Given the description of an element on the screen output the (x, y) to click on. 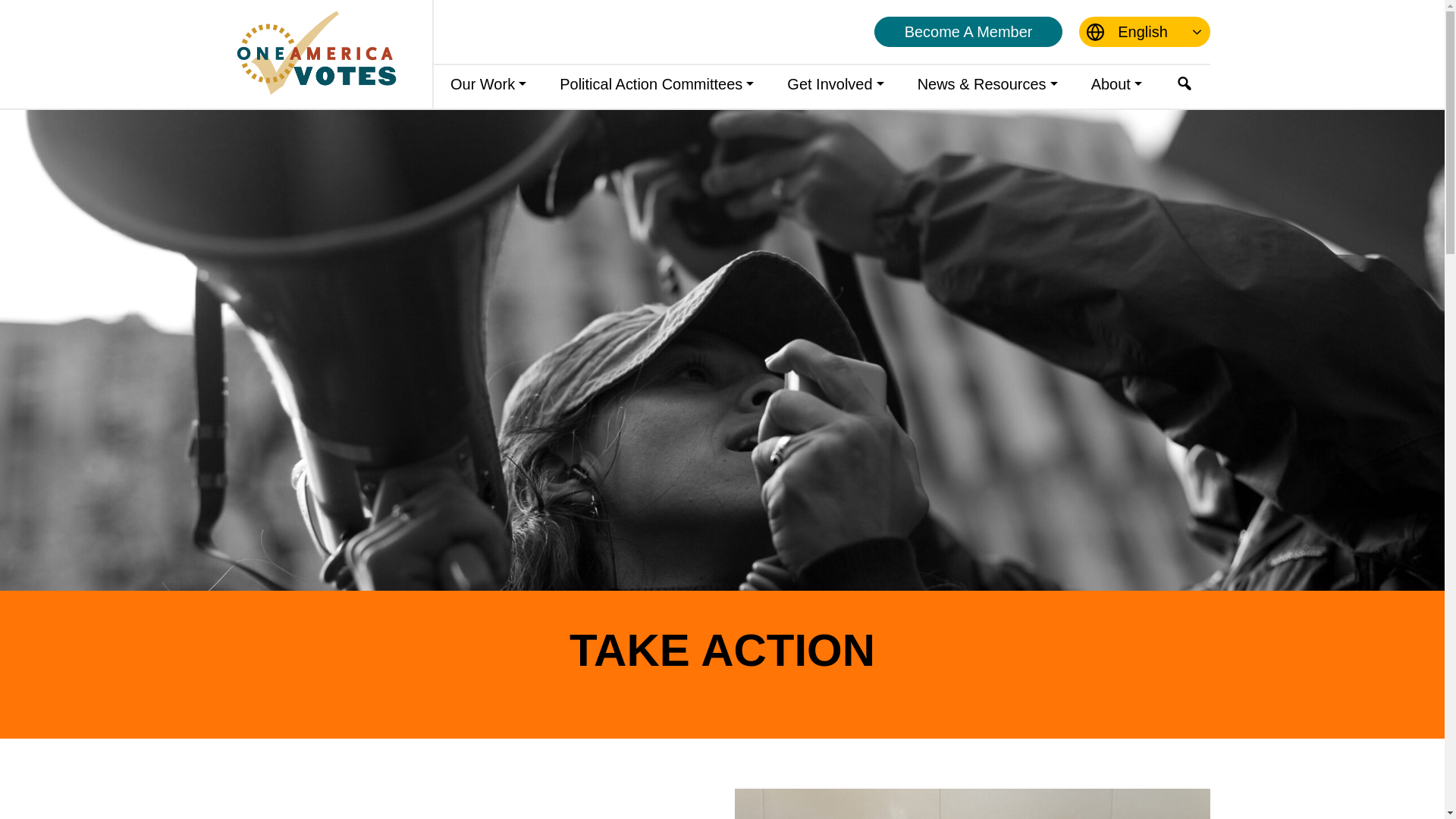
Our Work (488, 84)
Get Involved (834, 84)
Become A Member (968, 31)
Become A Member (968, 31)
About (1116, 84)
English (1143, 31)
Political Action Committees (656, 84)
Our Work (488, 84)
